Given the description of an element on the screen output the (x, y) to click on. 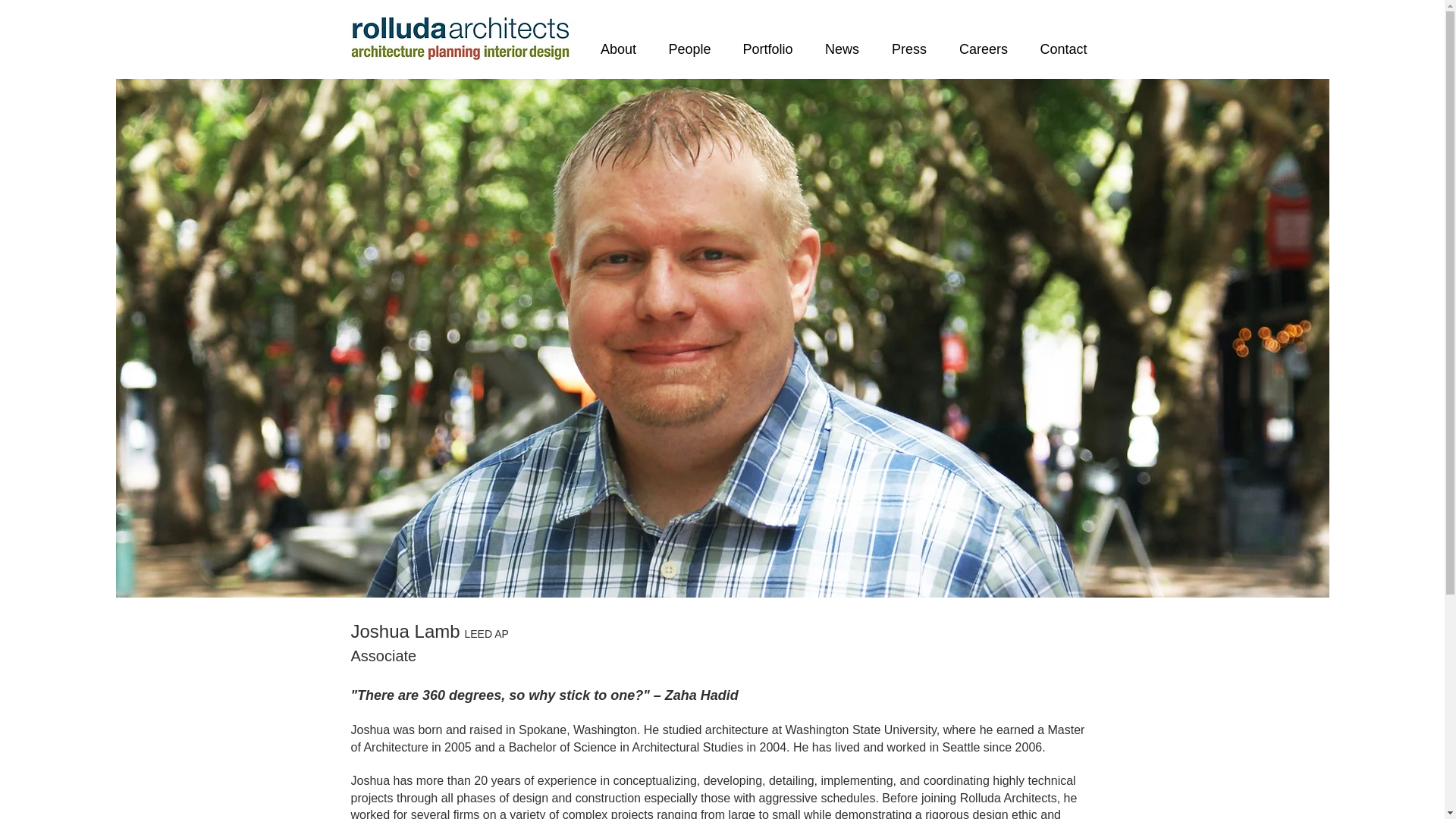
Portfolio (767, 48)
Press (908, 48)
Careers (984, 48)
People (689, 48)
About (617, 48)
News (841, 48)
Contact (1062, 48)
